Given the description of an element on the screen output the (x, y) to click on. 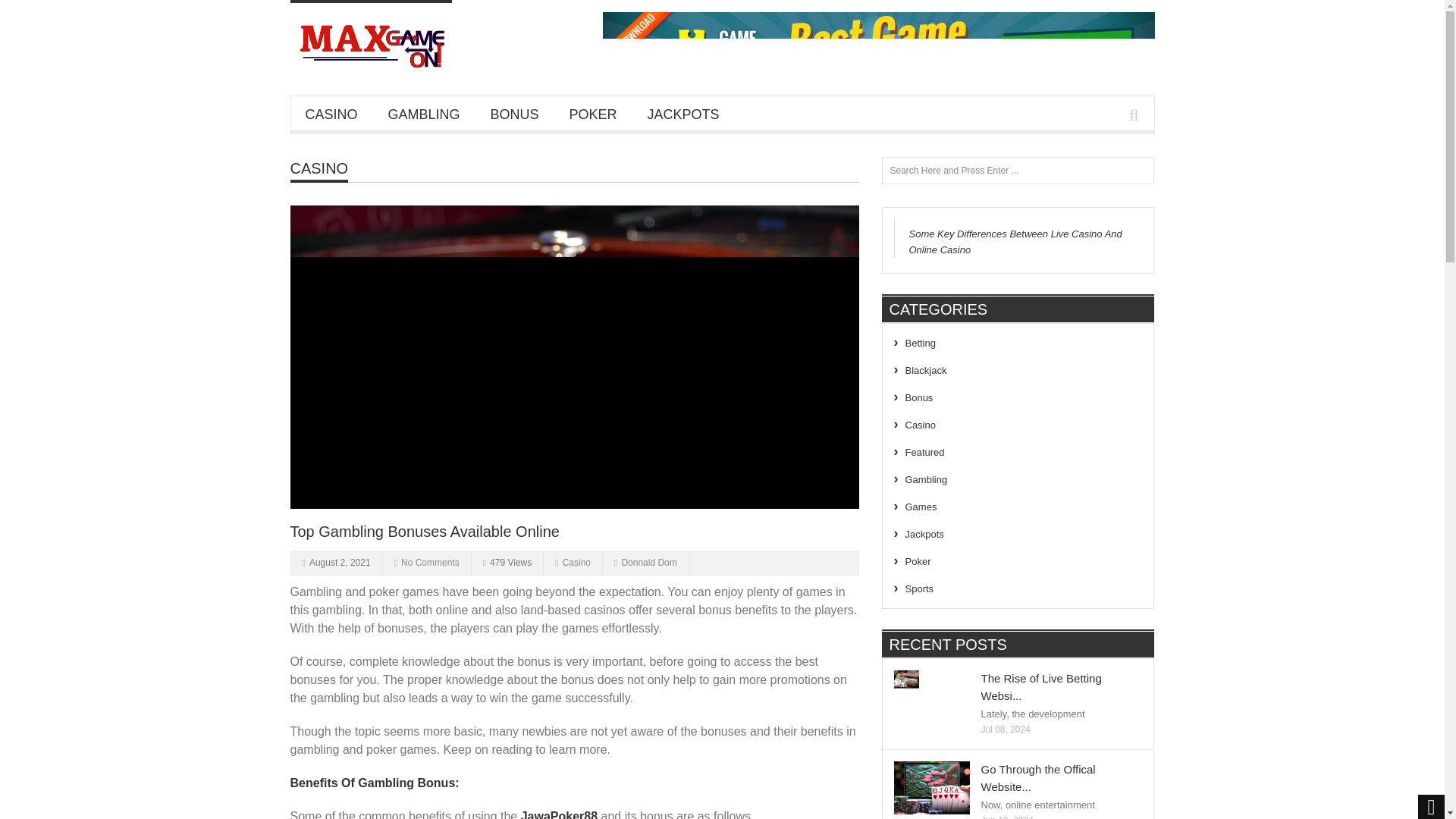
CASINO (330, 113)
Betting (920, 342)
Casino (318, 167)
Donnald Dom (649, 562)
No Comments (430, 562)
Sports (919, 588)
JACKPOTS (683, 113)
Posts by Donnald Dom (649, 562)
CASINO (318, 167)
Search Here and Press Enter ... (1017, 170)
GAMBLING (424, 113)
Casino (576, 562)
Bonus (919, 397)
